Given the description of an element on the screen output the (x, y) to click on. 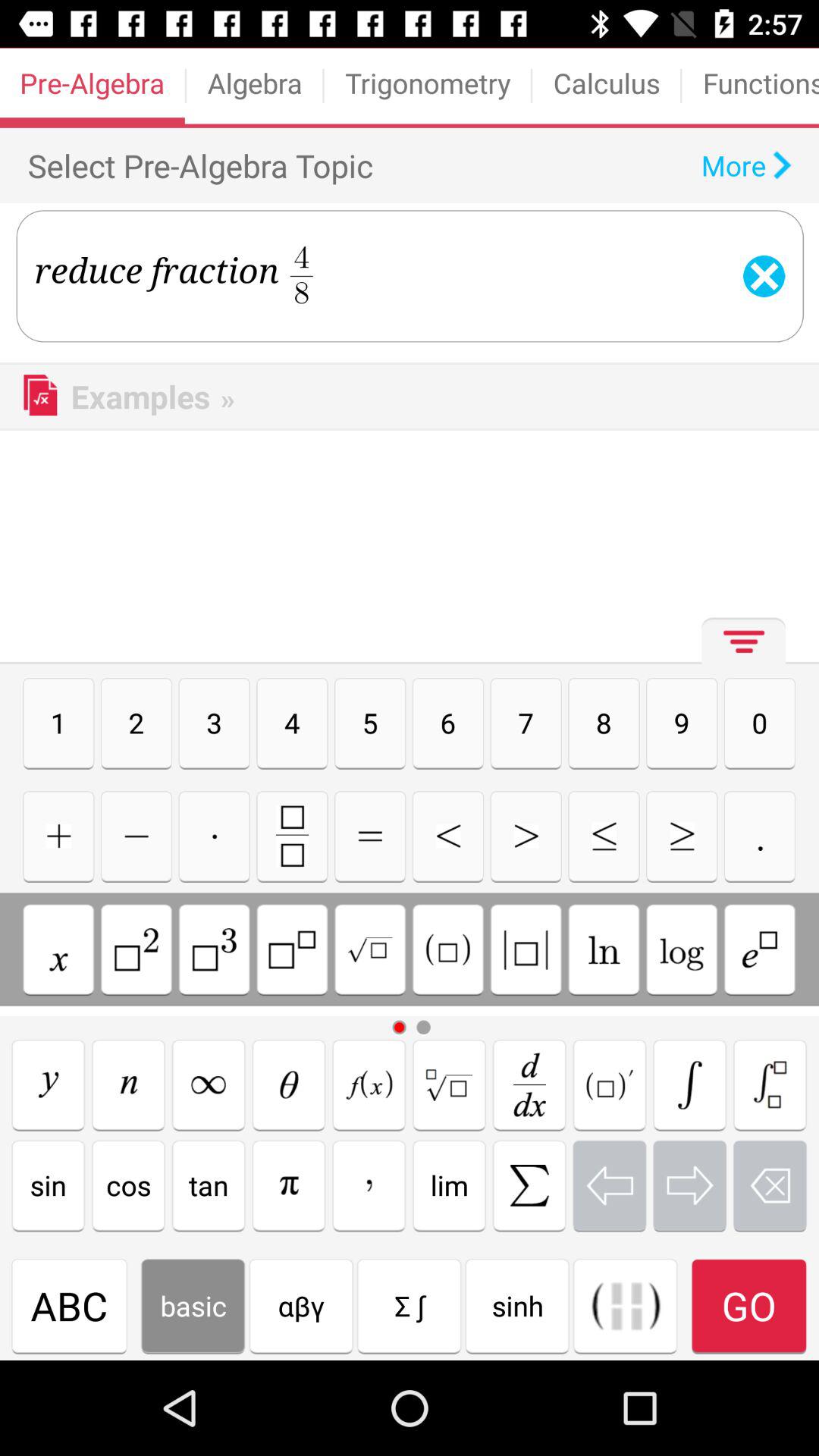
keywords button (369, 1084)
